Given the description of an element on the screen output the (x, y) to click on. 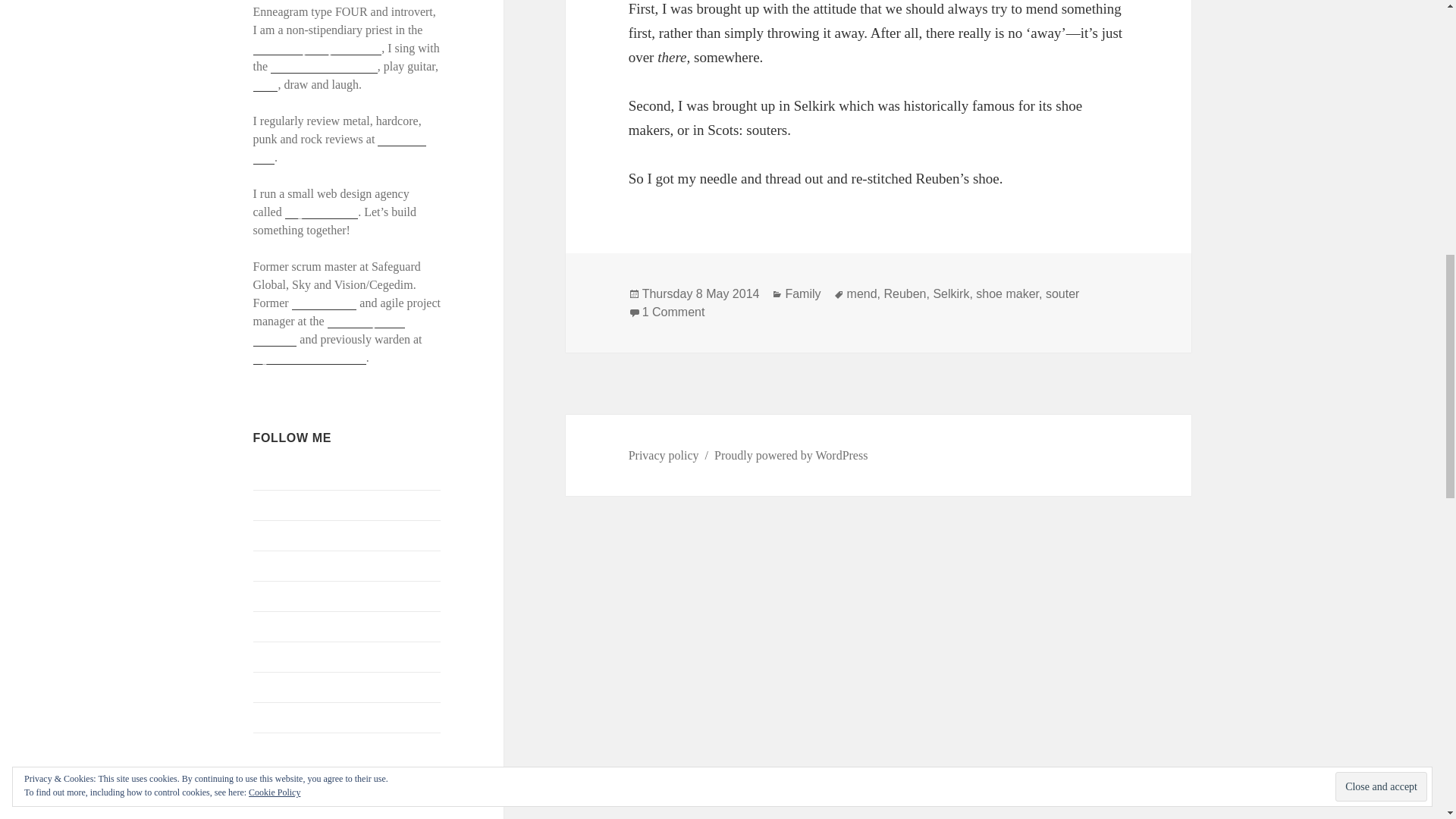
SoundCloud (283, 716)
Facebook (276, 504)
web architect (324, 303)
University of St Andrews (328, 330)
LinkedIn (275, 594)
Agnes Blackadder Hall (309, 357)
Instagram (277, 564)
Digital Shed45 (321, 212)
Slideshare (278, 686)
write (265, 84)
